Given the description of an element on the screen output the (x, y) to click on. 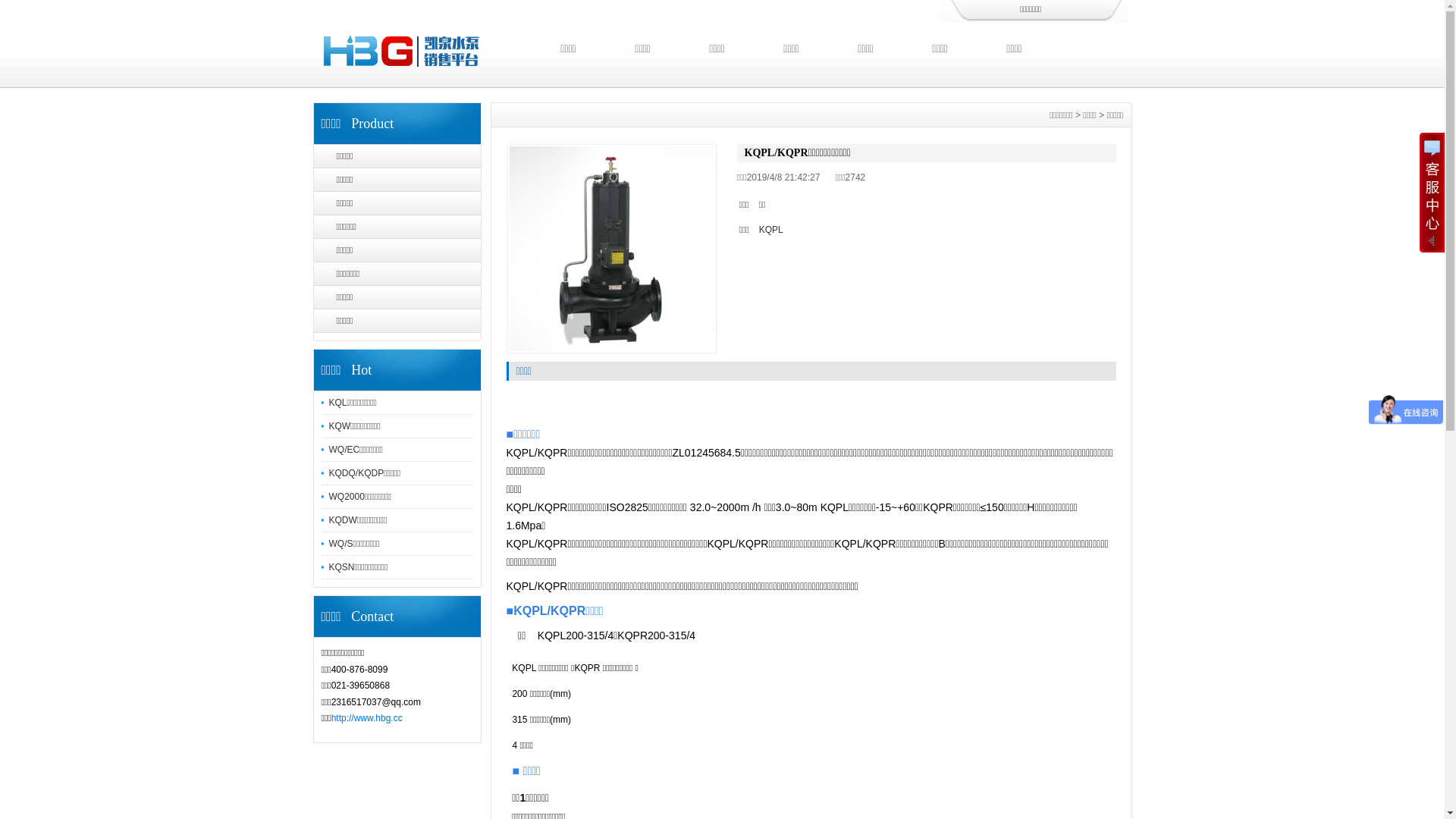
http://www.hbg.cc Element type: text (366, 717)
